Given the description of an element on the screen output the (x, y) to click on. 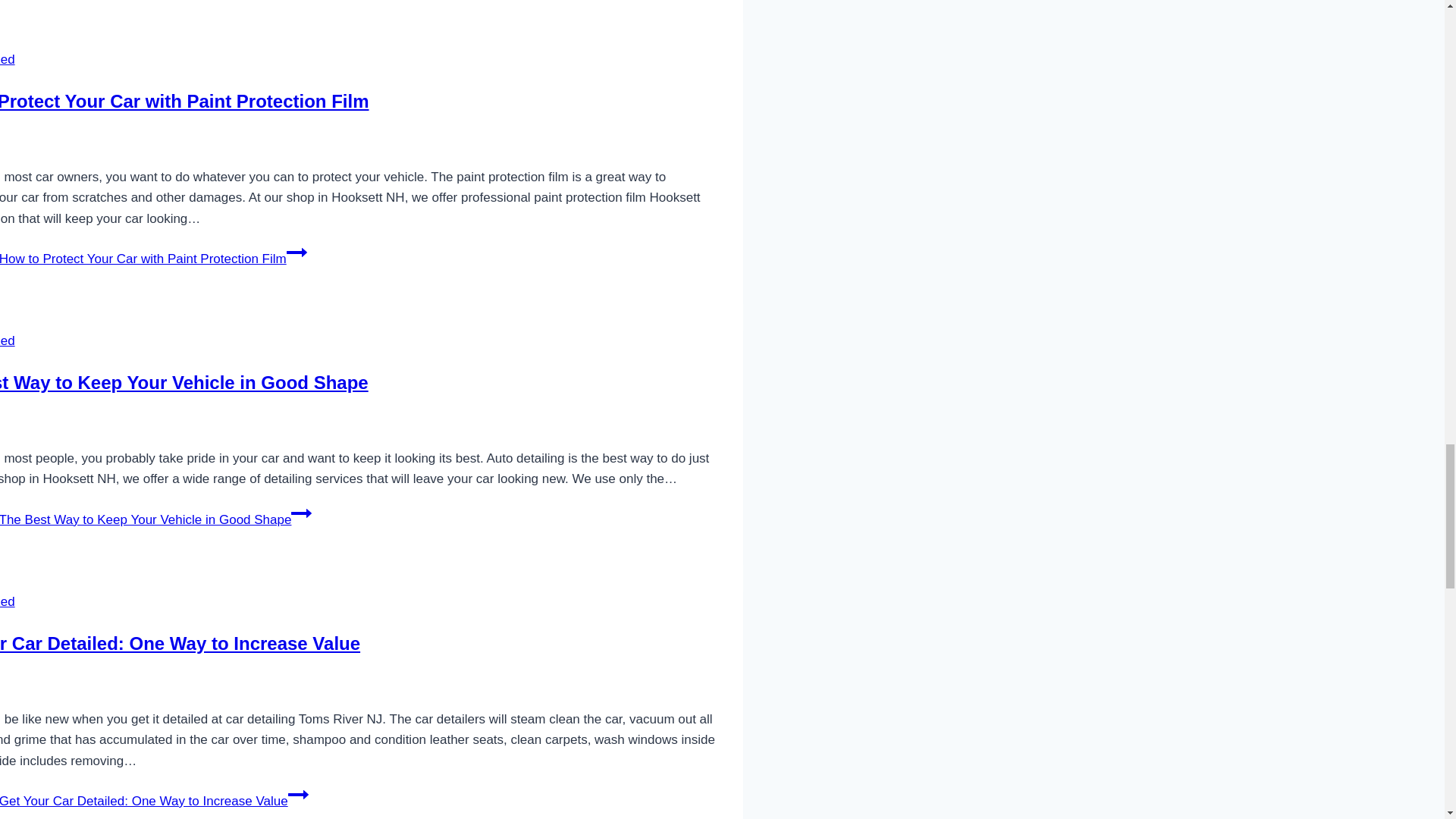
Uncategorized (7, 601)
Uncategorized (7, 59)
Continue (298, 794)
Continue (301, 513)
Get Your Car Detailed: One Way to Increase Value (179, 643)
Uncategorized (7, 340)
Continue (296, 251)
The Best Way to Keep Your Vehicle in Good Shape (184, 382)
How to Protect Your Car with Paint Protection Film (184, 100)
